Given the description of an element on the screen output the (x, y) to click on. 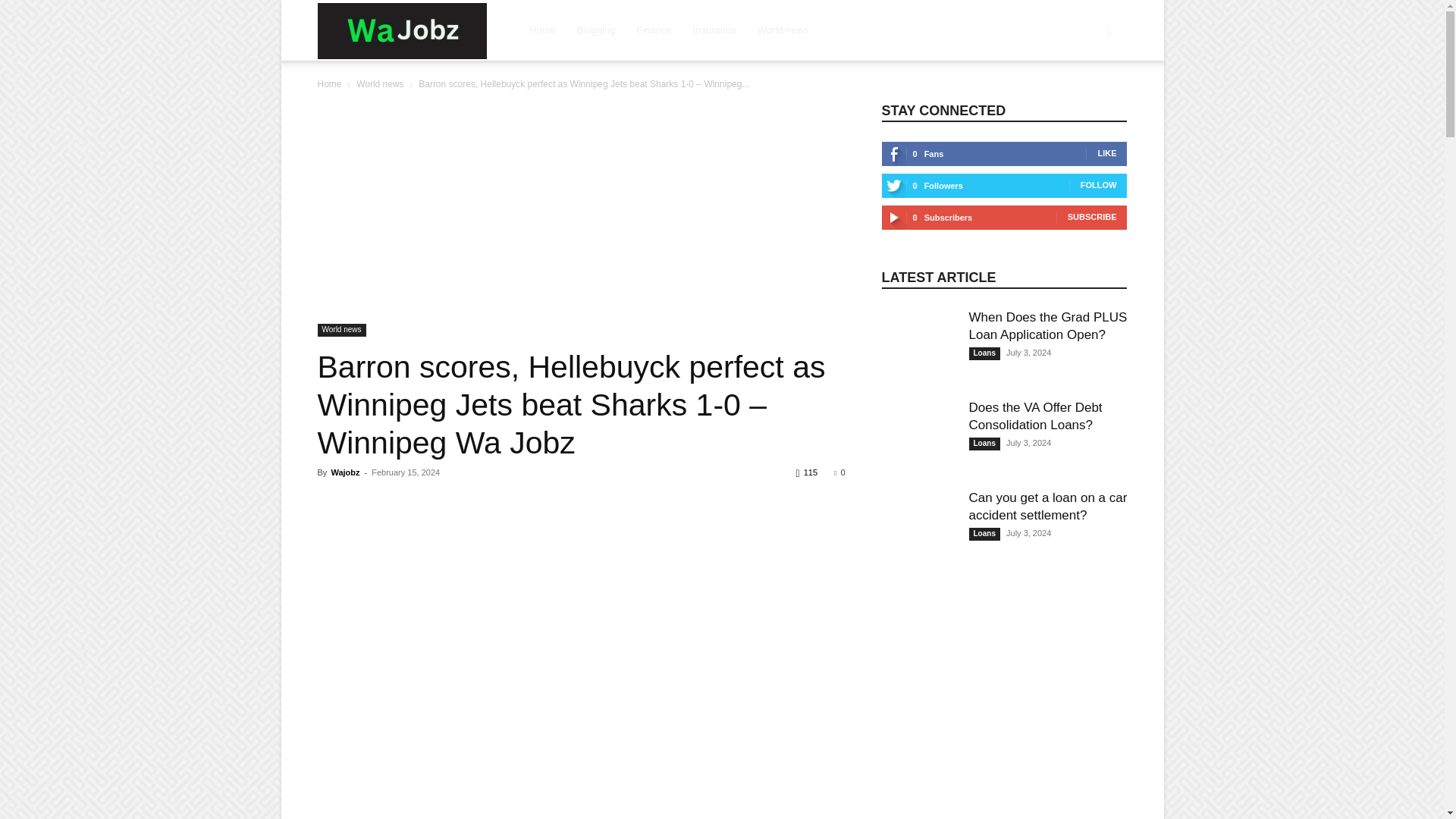
World news (379, 83)
Insurance (714, 30)
View all posts in World news (379, 83)
Home (328, 83)
Blogging (596, 30)
Wa Jobz (401, 30)
0 (839, 471)
Search (1085, 102)
World news (341, 329)
Finance (653, 30)
Advertisement (580, 211)
World news (782, 30)
Wajobz (344, 471)
Wajobz (401, 30)
